Given the description of an element on the screen output the (x, y) to click on. 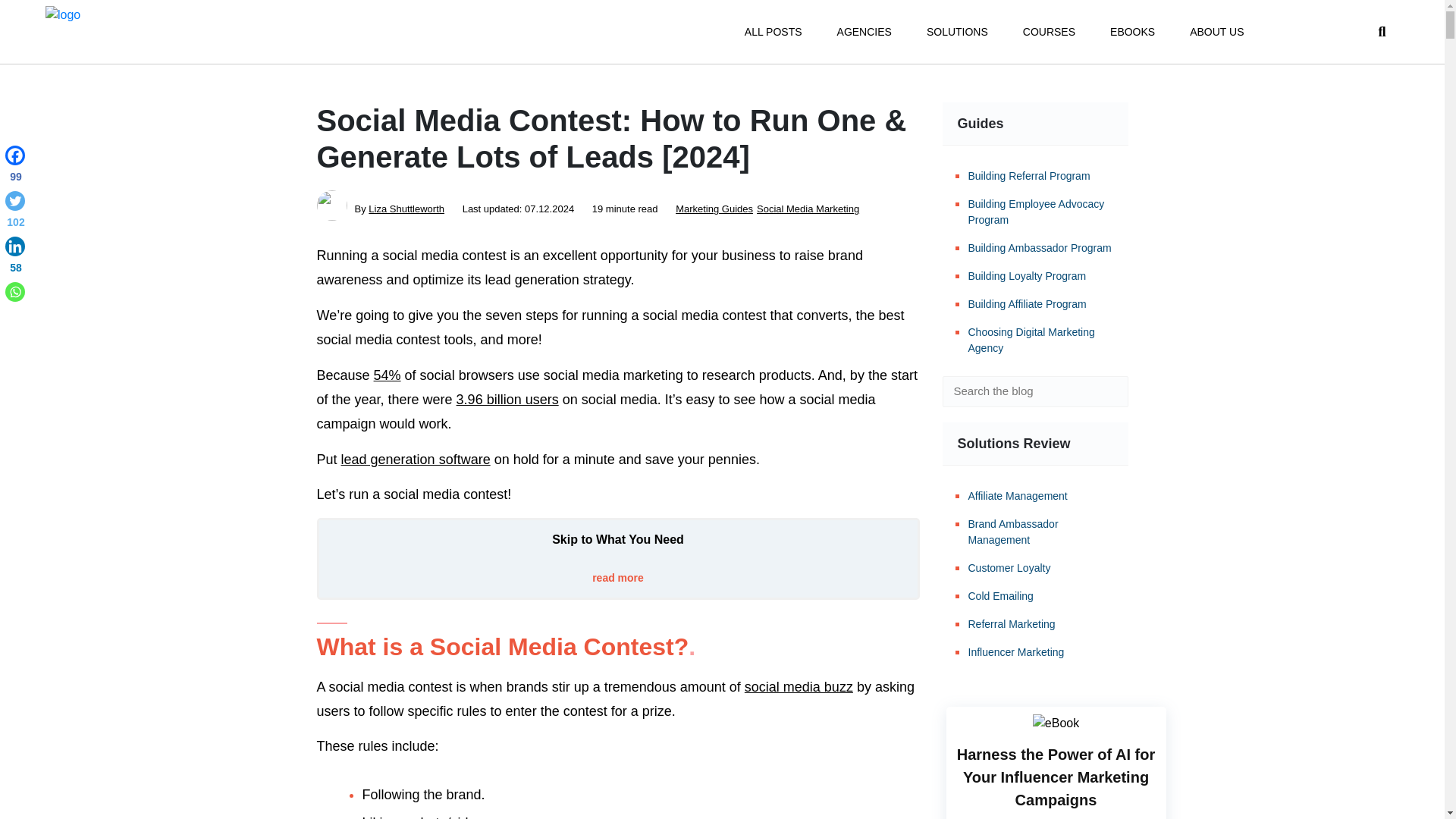
Whatsapp (14, 291)
Search (1105, 391)
ALL POSTS (772, 31)
Facebook (14, 166)
SOLUTIONS (957, 31)
Linkedin (14, 257)
Search (1105, 391)
AGENCIES (864, 31)
Twitter (14, 211)
